Given the description of an element on the screen output the (x, y) to click on. 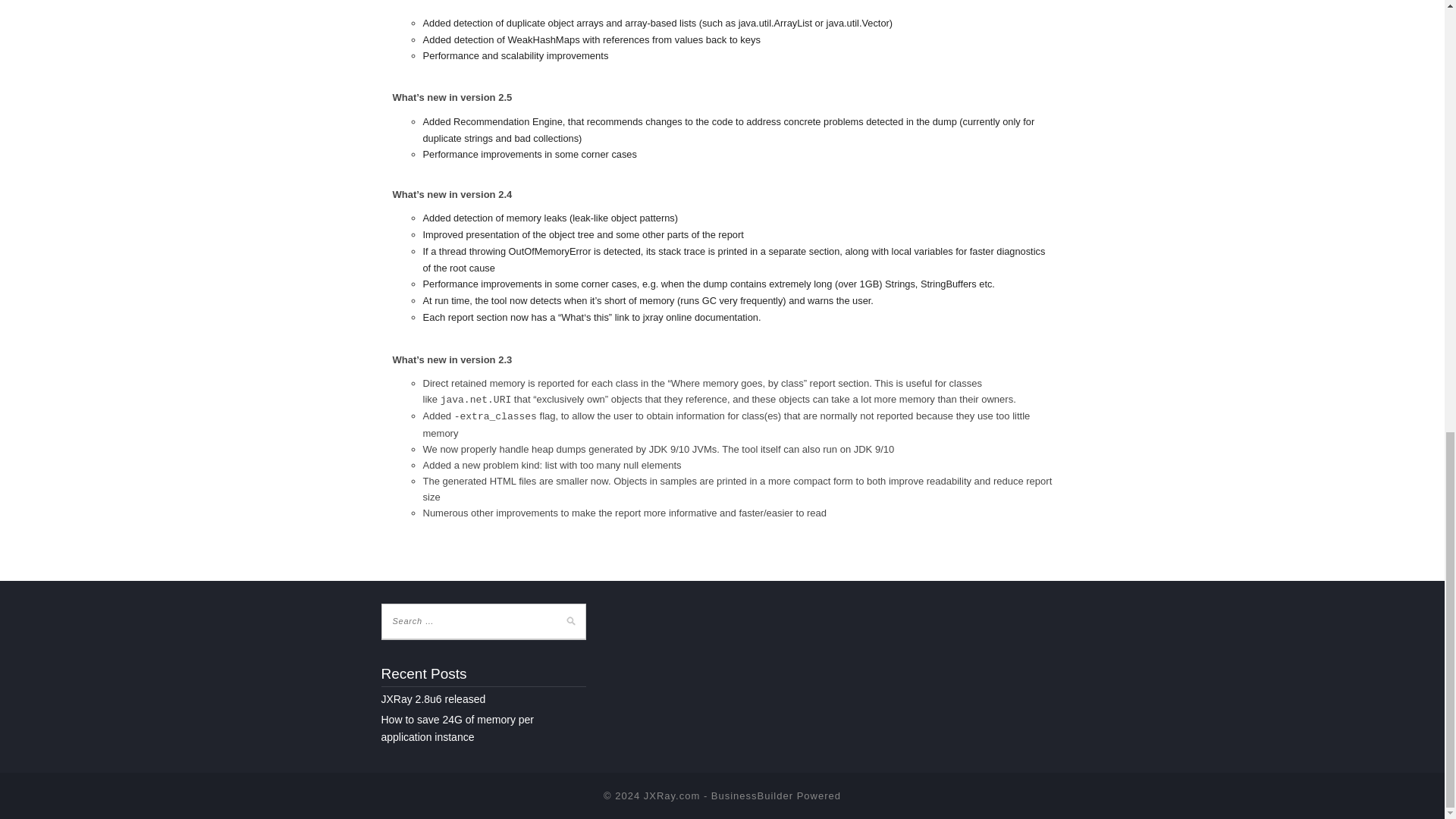
BusinessBuilder (752, 795)
How to save 24G of memory per application instance (457, 727)
JXRay 2.8u6 released (432, 698)
